Given the description of an element on the screen output the (x, y) to click on. 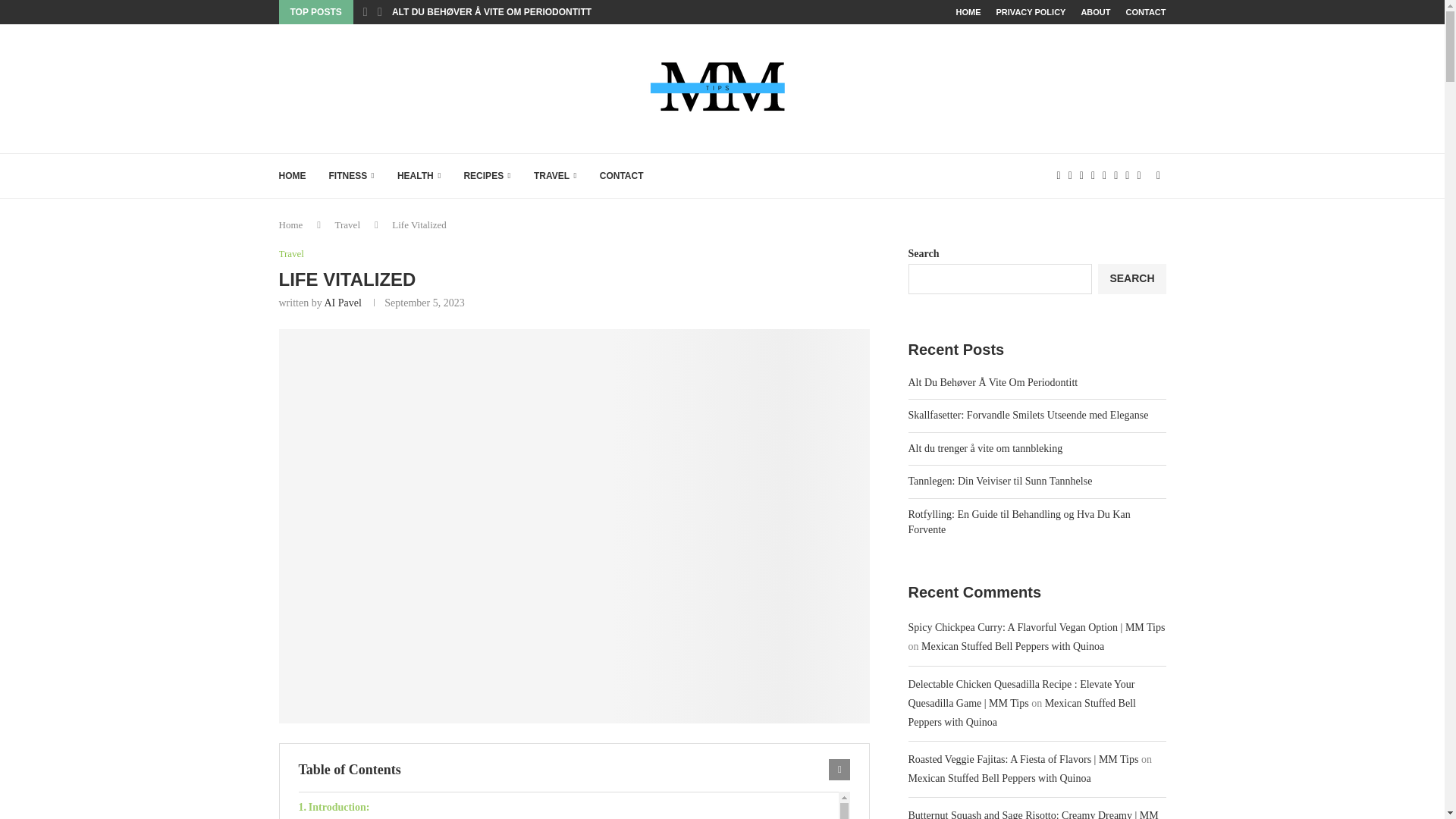
ABOUT (1094, 12)
Home (290, 224)
CONTACT (1145, 12)
TRAVEL (555, 175)
CONTACT (621, 175)
FITNESS (351, 175)
Travel (291, 254)
PRIVACY POLICY (1030, 12)
Introduction: (569, 805)
